Given the description of an element on the screen output the (x, y) to click on. 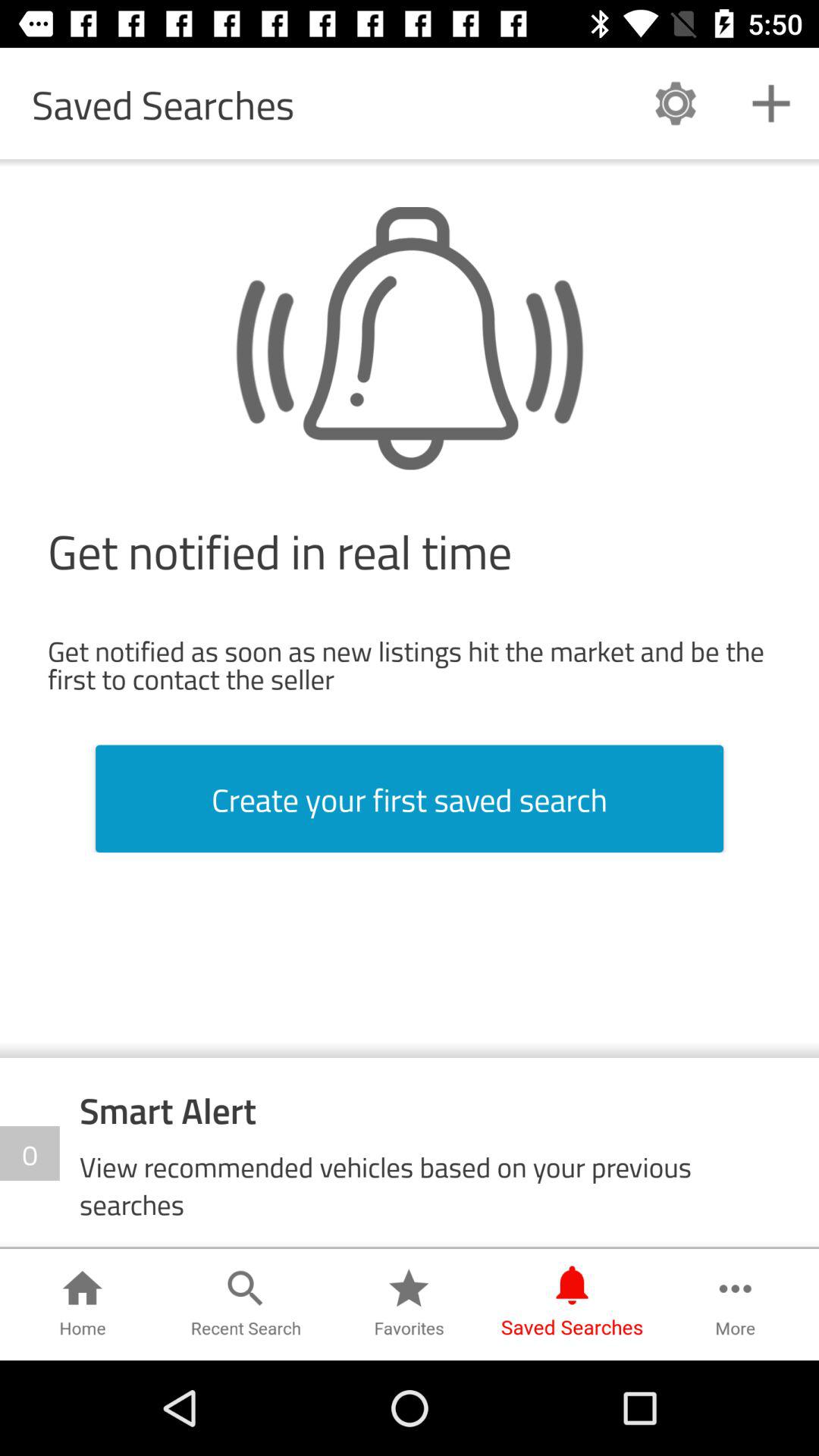
click on the bell icon option (409, 338)
click on the create your first saved search (409, 798)
click on the more option in the bottom left corner (735, 1304)
